Given the description of an element on the screen output the (x, y) to click on. 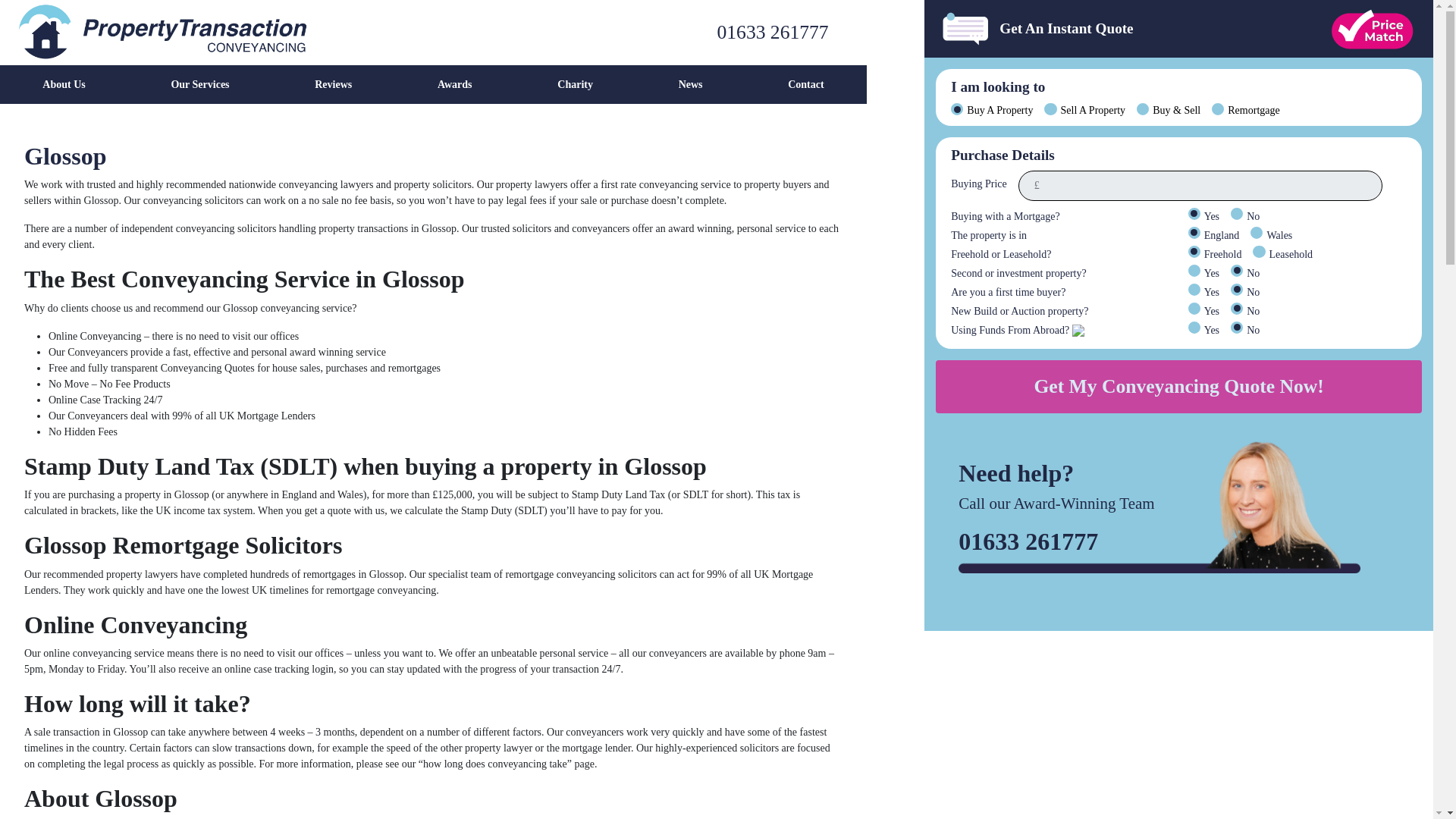
LEASEHOLD (1258, 251)
true (1193, 289)
Rem (1217, 109)
About Us (64, 84)
Our Services (200, 84)
on (1236, 327)
true (1193, 270)
false (1236, 308)
FREEHOLD (1193, 251)
true (1193, 308)
Get My Conveyancing Quote Now! (1179, 386)
false (1236, 214)
BuySell (1142, 109)
Sell (1050, 109)
01633 261777 (642, 32)
